Given the description of an element on the screen output the (x, y) to click on. 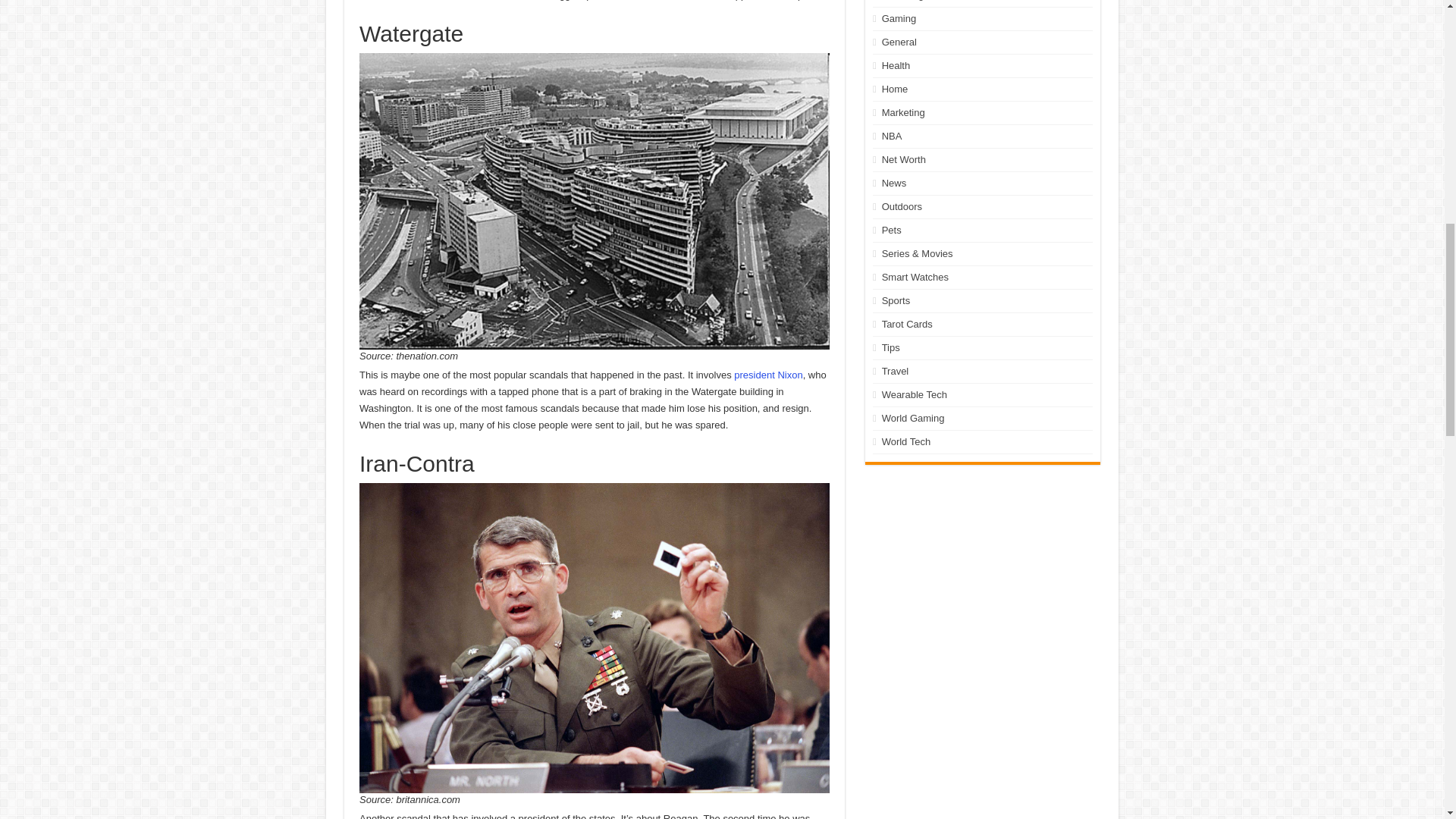
president Nixon (767, 374)
Scroll To Top (1421, 60)
